Given the description of an element on the screen output the (x, y) to click on. 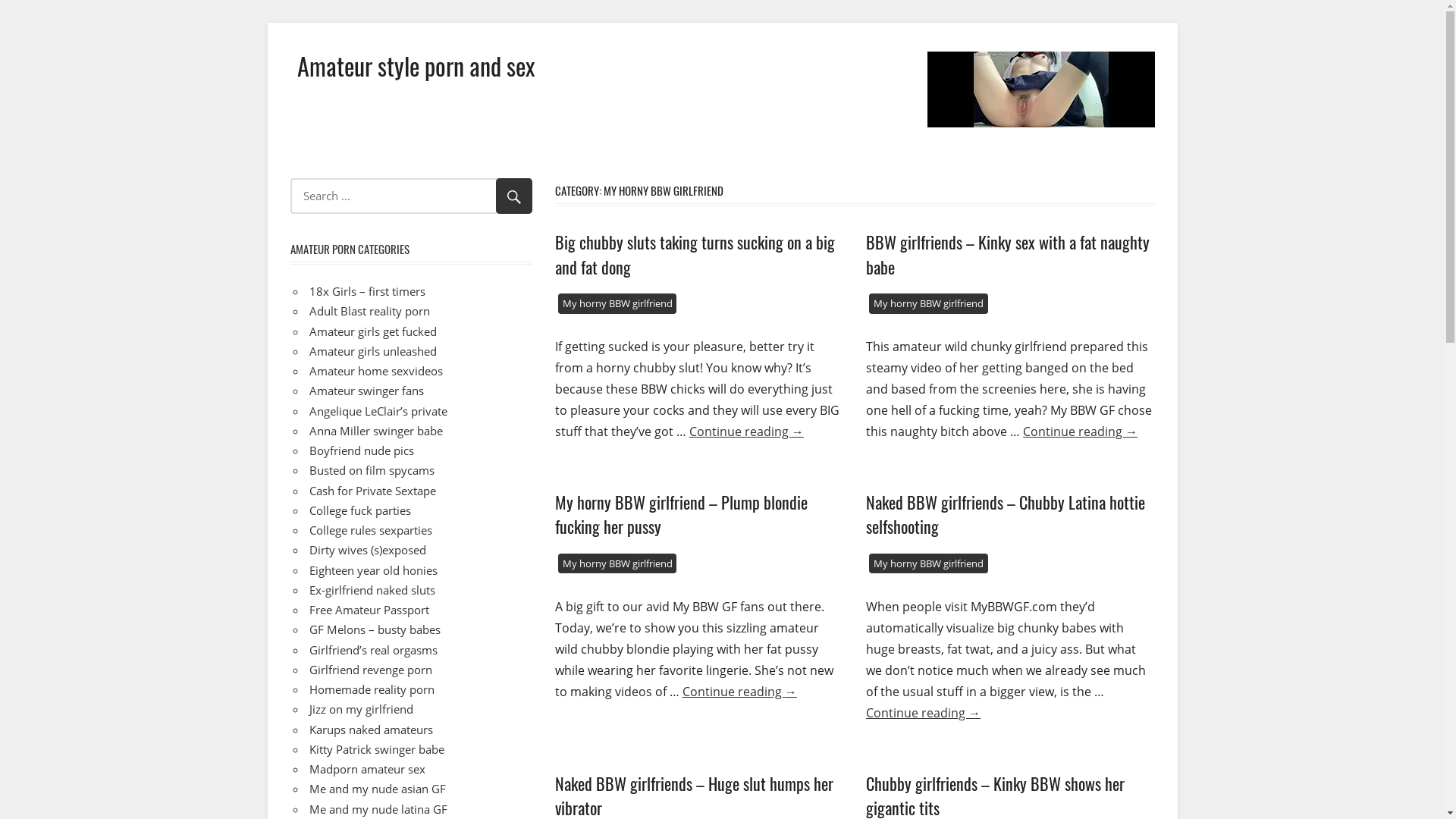
Amateur girls unleashed Element type: text (372, 350)
Dirty wives (s)exposed Element type: text (367, 549)
Big chubby sluts taking turns sucking on a big and fat dong Element type: text (694, 253)
Amateur style porn and sex Element type: text (415, 65)
Search for: Element type: hover (410, 195)
Busted on film spycams Element type: text (371, 469)
Amateur swinger fans Element type: text (366, 390)
My horny BBW girlfriend Element type: text (928, 303)
Homemade reality porn Element type: text (371, 688)
Boyfriend nude pics Element type: text (361, 450)
College rules sexparties Element type: text (370, 529)
Madporn amateur sex Element type: text (367, 768)
Skip to content Element type: text (266, 22)
Eighteen year old honies Element type: text (373, 569)
Girlfriend revenge porn Element type: text (370, 669)
My horny BBW girlfriend Element type: text (928, 563)
Amateur home sexvideos Element type: text (375, 370)
My horny BBW girlfriend Element type: text (617, 303)
Me and my nude asian GF Element type: text (377, 788)
Ex-girlfriend naked sluts Element type: text (372, 589)
Cash for Private Sextape Element type: text (372, 489)
College fuck parties Element type: text (360, 509)
Anna Miller swinger babe Element type: text (375, 430)
Jizz on my girlfriend Element type: text (361, 708)
Karups naked amateurs Element type: text (371, 729)
Kitty Patrick swinger babe Element type: text (376, 748)
Me and my nude latina GF Element type: text (378, 807)
Free Amateur Passport Element type: text (369, 609)
Adult Blast reality porn Element type: text (369, 310)
Amateur girls get fucked Element type: text (372, 330)
My horny BBW girlfriend Element type: text (617, 563)
